Given the description of an element on the screen output the (x, y) to click on. 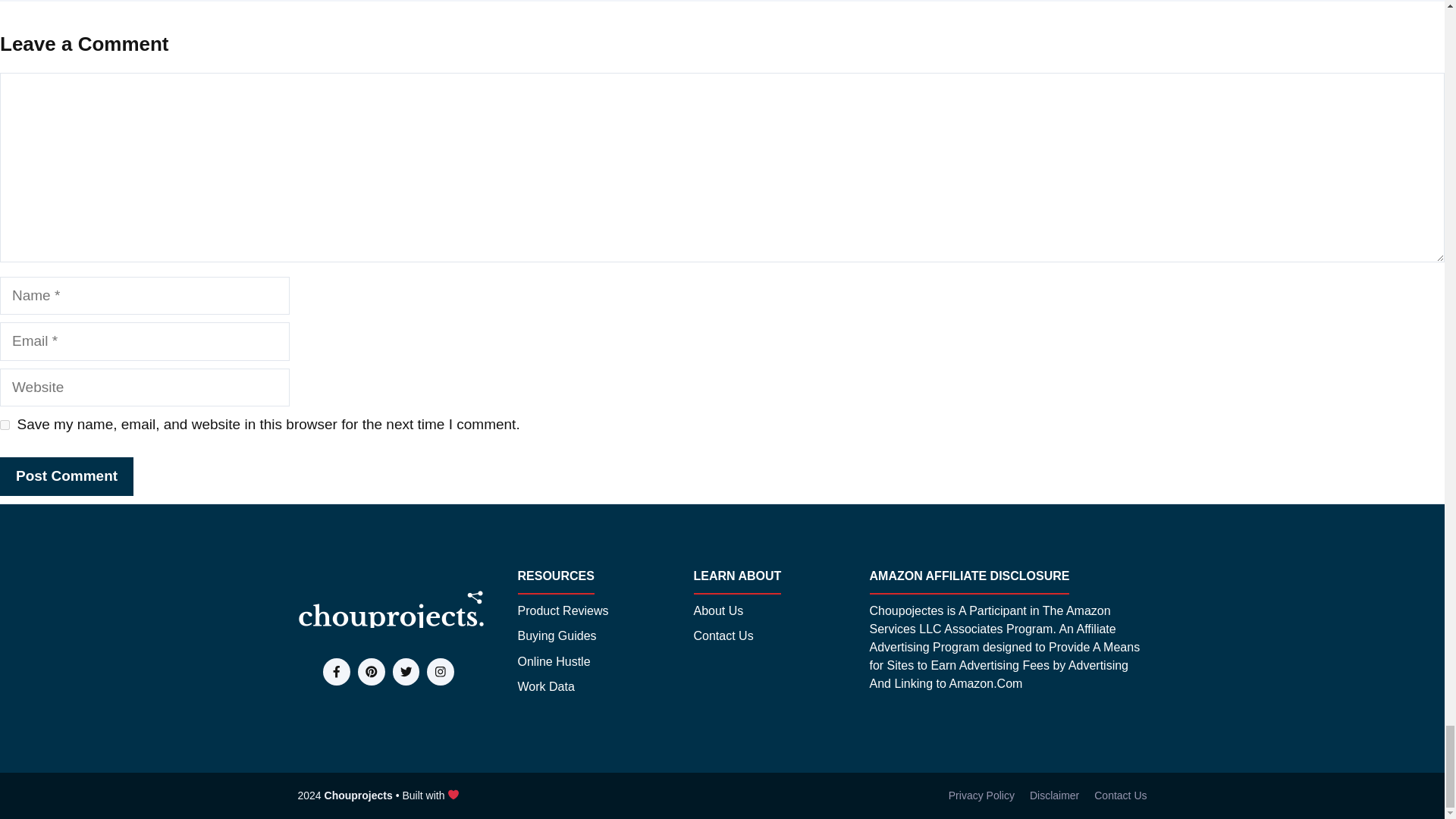
Online Hustle (552, 661)
Post Comment (66, 476)
yes (5, 424)
Contact Us (722, 636)
About Us (717, 610)
Buying Guides (555, 636)
Disclaimer (1053, 795)
Post Comment (66, 476)
Privacy Policy (981, 795)
Product Reviews (562, 610)
